Given the description of an element on the screen output the (x, y) to click on. 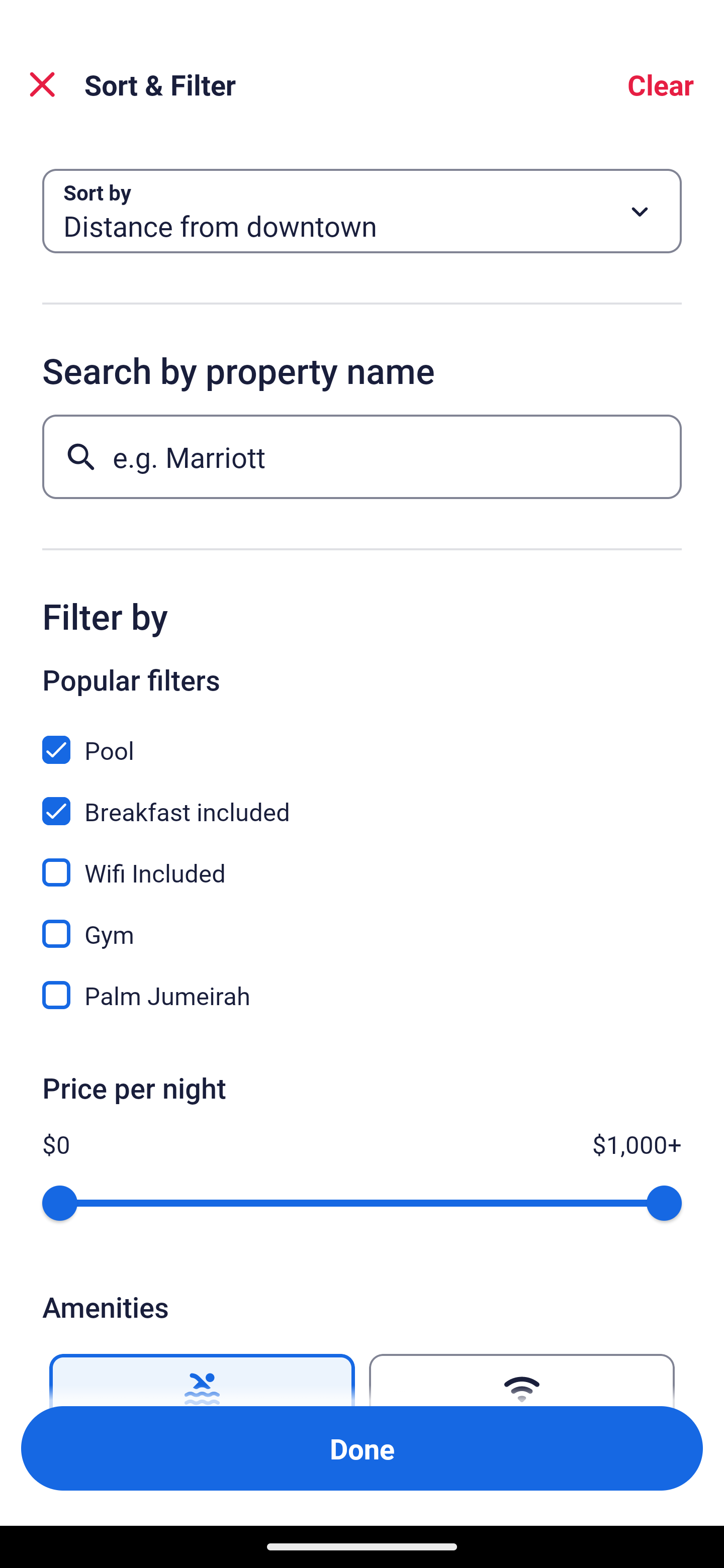
Close Sort and Filter (42, 84)
Clear (660, 84)
Sort by Button Distance from downtown (361, 211)
e.g. Marriott Button (361, 455)
Pool, Pool (361, 738)
Breakfast included, Breakfast included (361, 800)
Wifi Included, Wifi Included (361, 861)
Gym, Gym (361, 922)
Palm Jumeirah, Palm Jumeirah (361, 995)
Apply and close Sort and Filter Done (361, 1448)
